Given the description of an element on the screen output the (x, y) to click on. 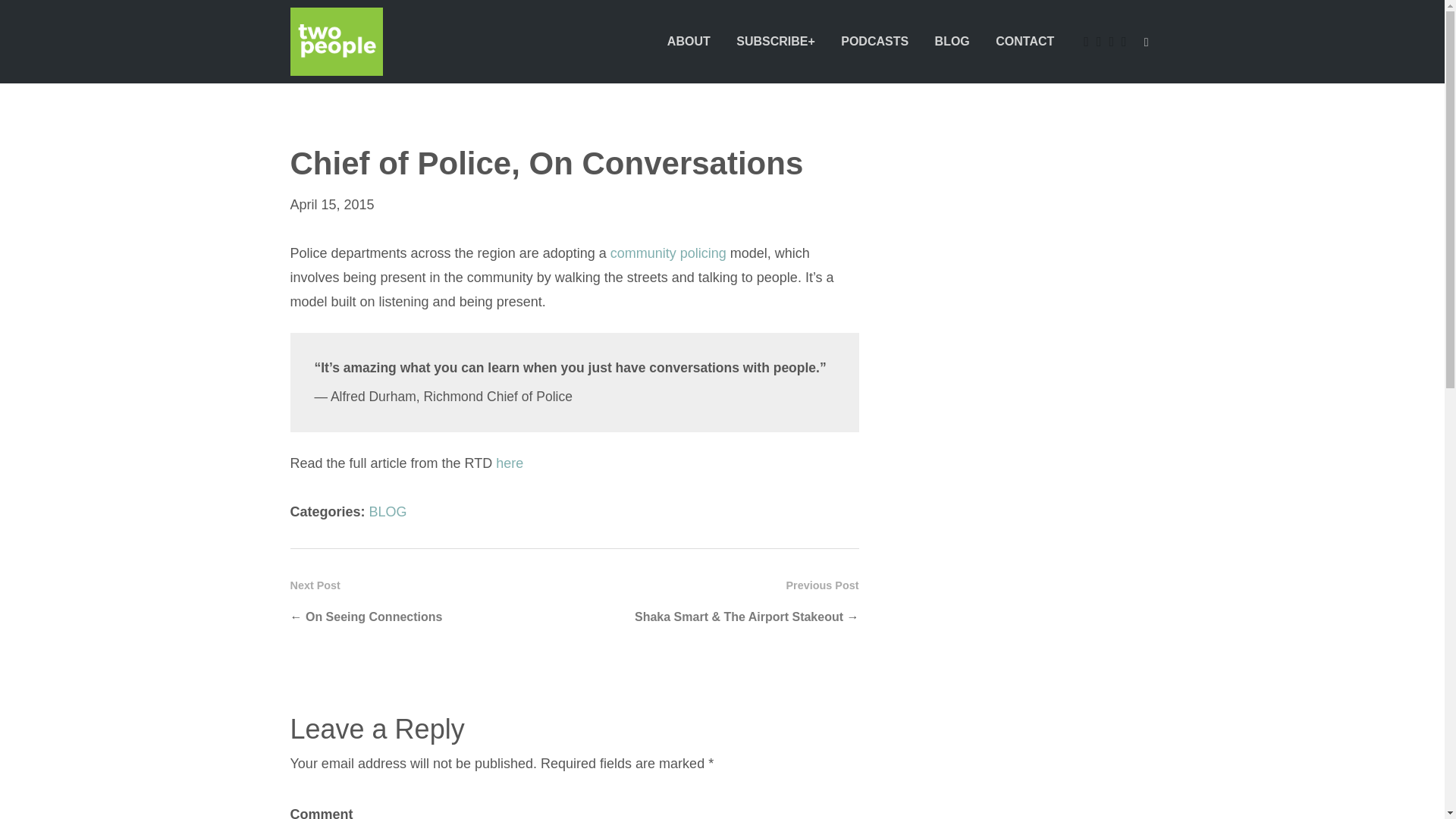
BLOG (388, 511)
community policing (668, 253)
On Seeing Connections (373, 616)
here (509, 462)
CONTACT (1024, 41)
PODCASTS (874, 41)
